Given the description of an element on the screen output the (x, y) to click on. 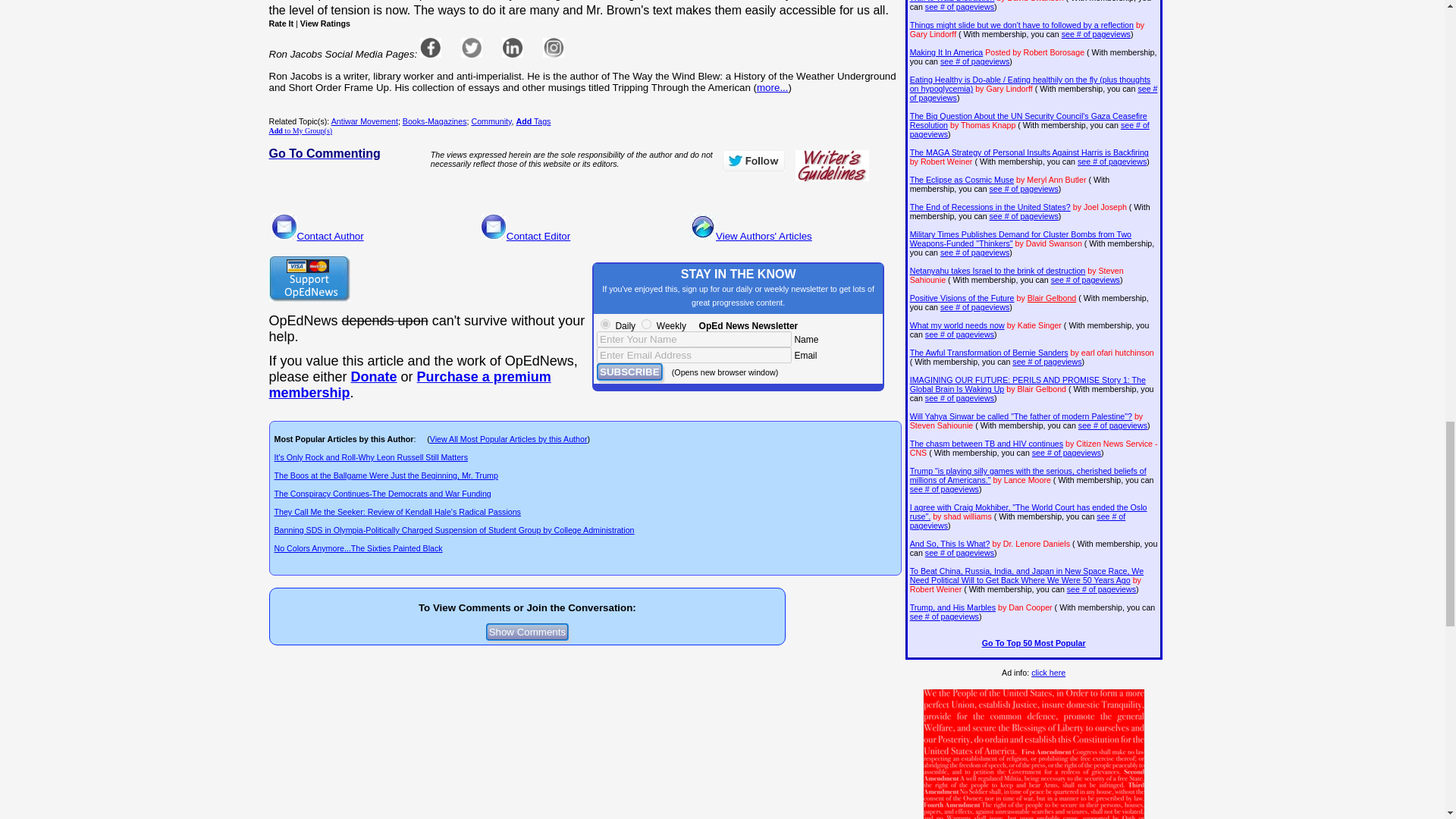
-- (373, 376)
Show Comments (527, 631)
Linkedin page url on login Profile not filled in (512, 47)
Antiwar Movement (364, 121)
View Authors' Articles (764, 235)
Follow Me on Twitter (753, 160)
Enter Your Name (694, 339)
Enter Email Address (694, 355)
SUBSCRIBE (629, 371)
Instagram page url on login Profile not filled in (553, 47)
